Given the description of an element on the screen output the (x, y) to click on. 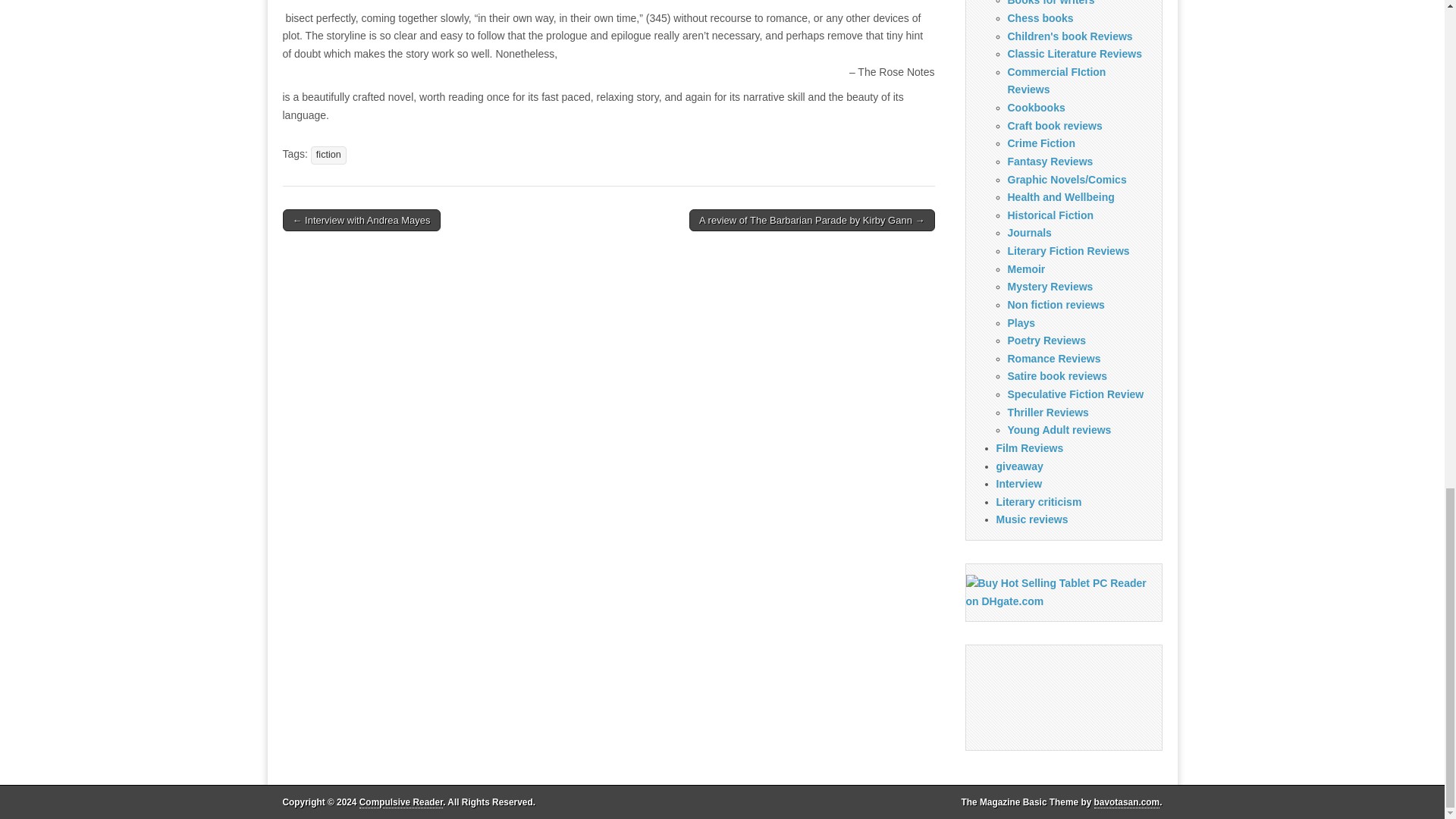
Chess books (1040, 18)
Cookbooks (1035, 107)
Classic Literature Reviews (1074, 53)
Commercial FIction Reviews (1056, 81)
Crime Fiction (1040, 143)
Health and Wellbeing (1060, 196)
fiction (328, 154)
Craft book reviews (1054, 125)
Historical Fiction (1050, 215)
